Given the description of an element on the screen output the (x, y) to click on. 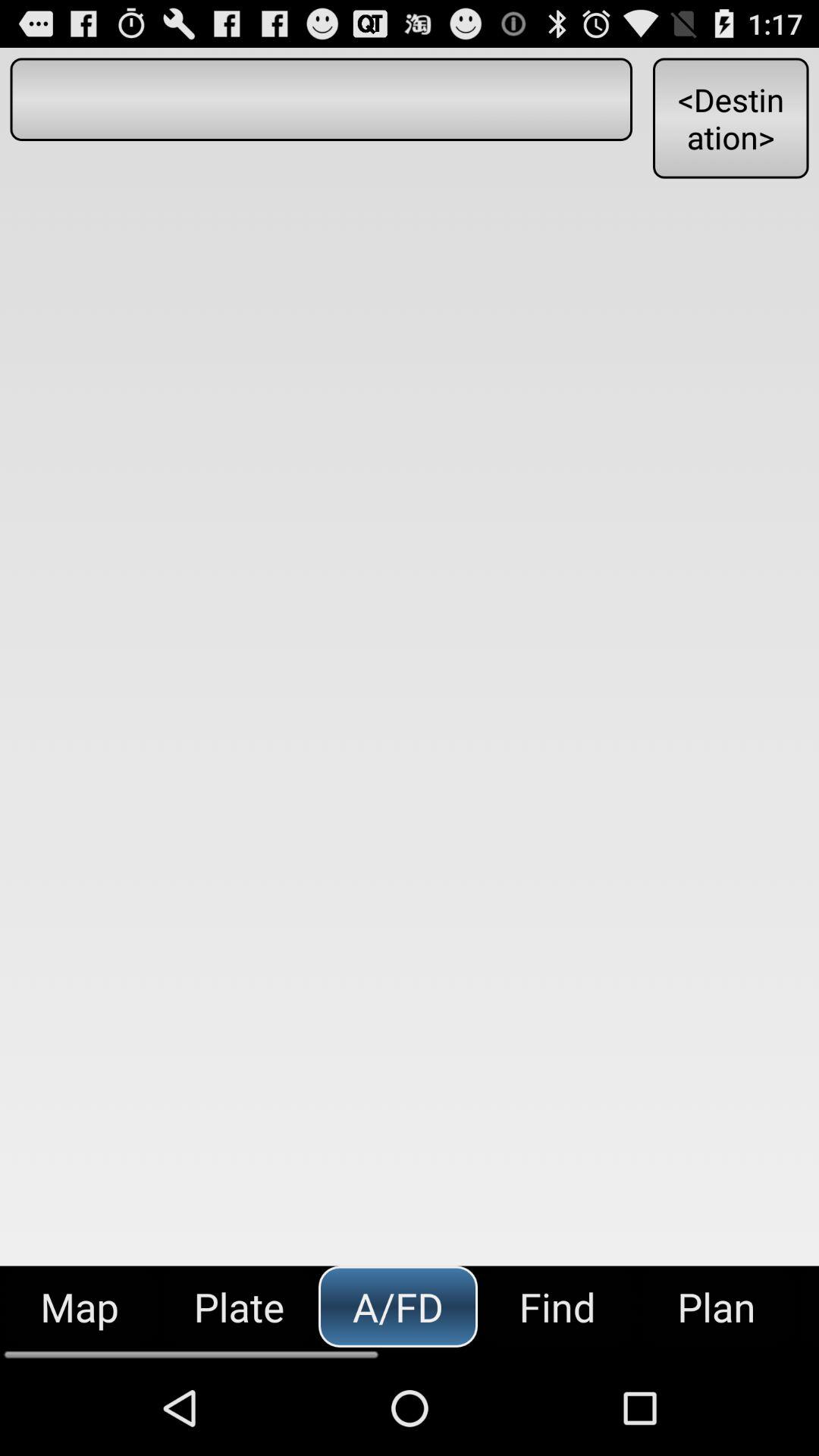
turn off button next to the <destination> icon (321, 99)
